Given the description of an element on the screen output the (x, y) to click on. 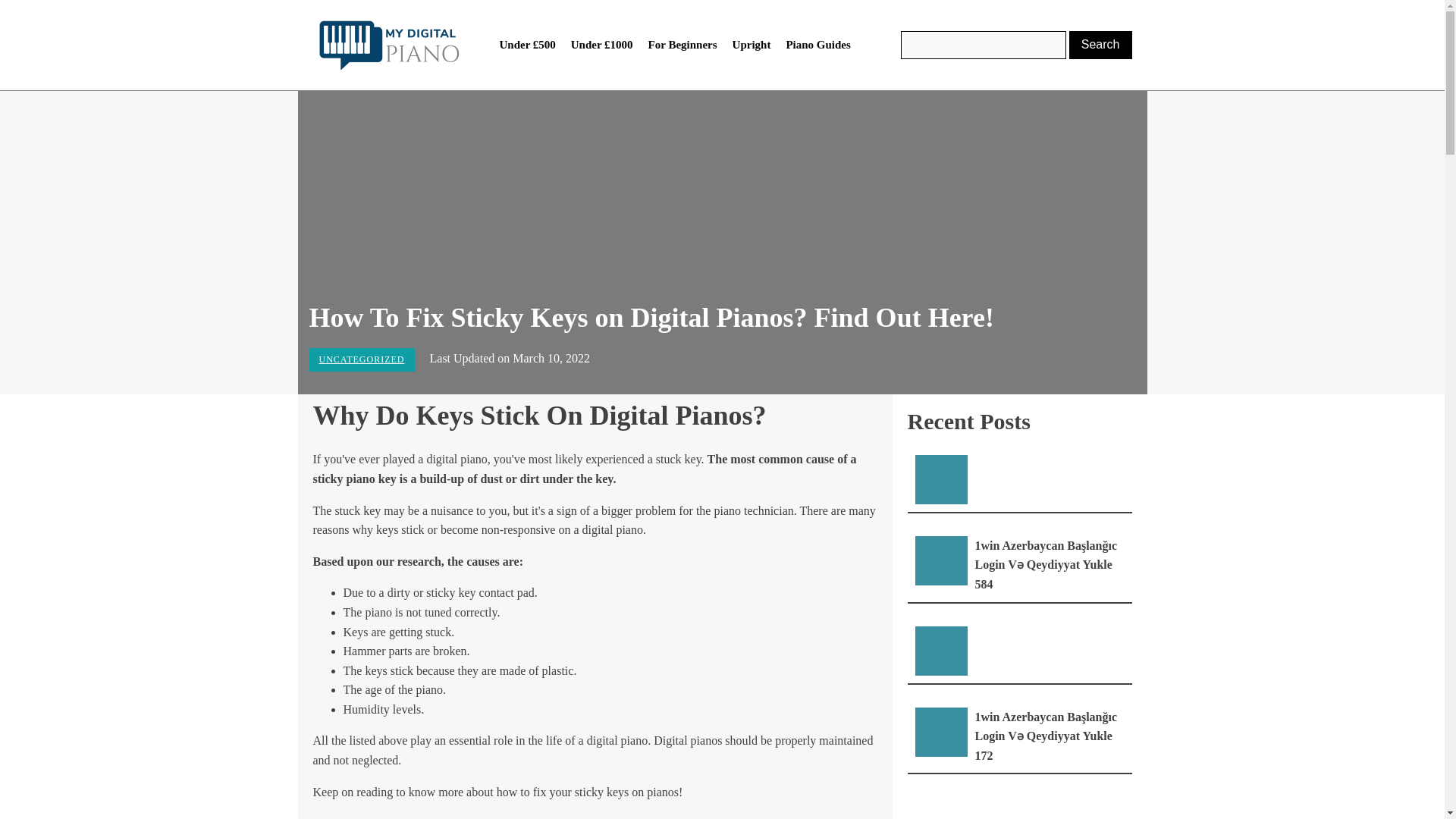
Piano Guides (818, 45)
Search (1100, 44)
Search (1100, 44)
Upright (751, 45)
For Beginners (682, 45)
UNCATEGORIZED (361, 358)
